Given the description of an element on the screen output the (x, y) to click on. 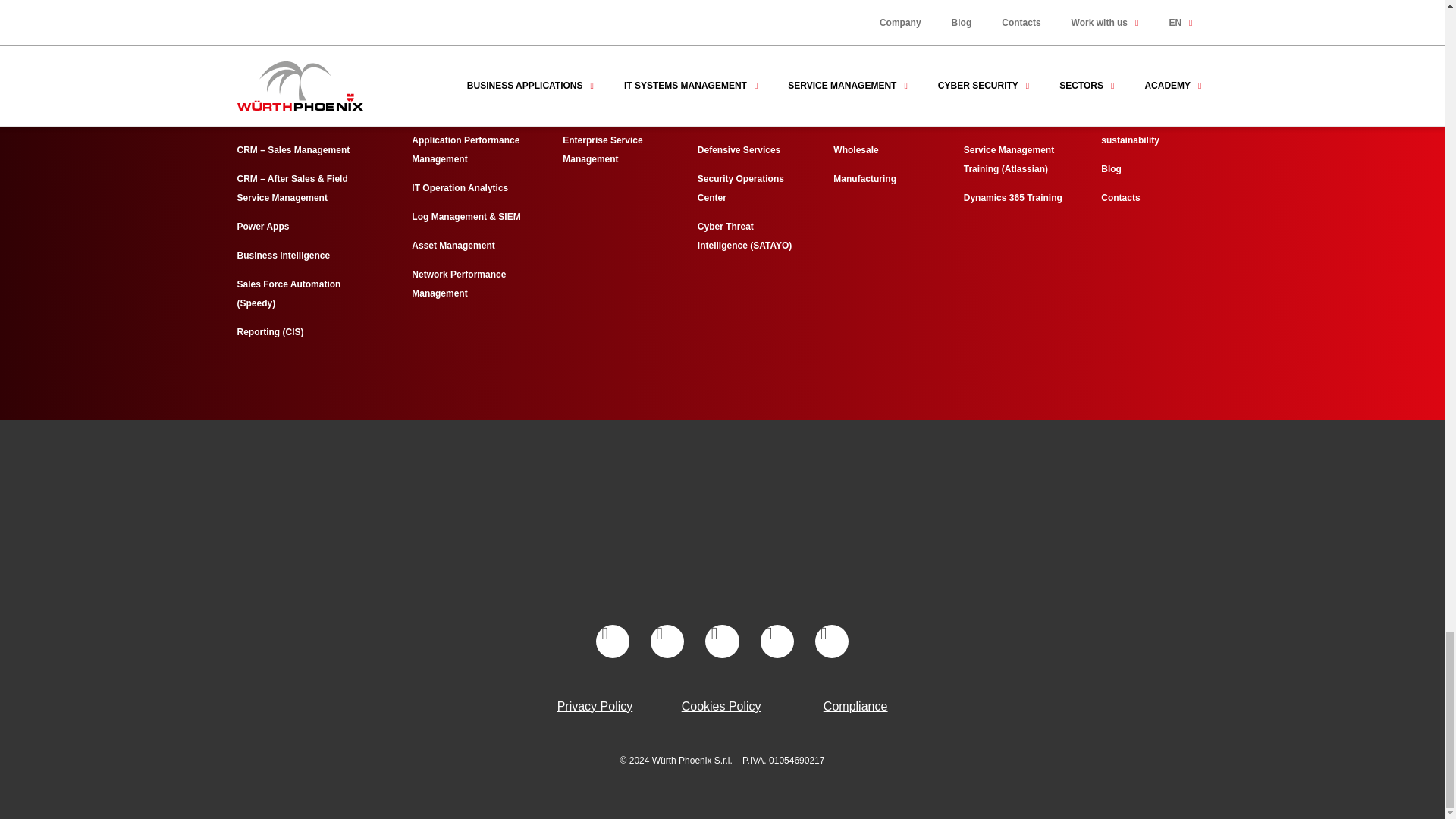
footer-logo (721, 530)
